Given the description of an element on the screen output the (x, y) to click on. 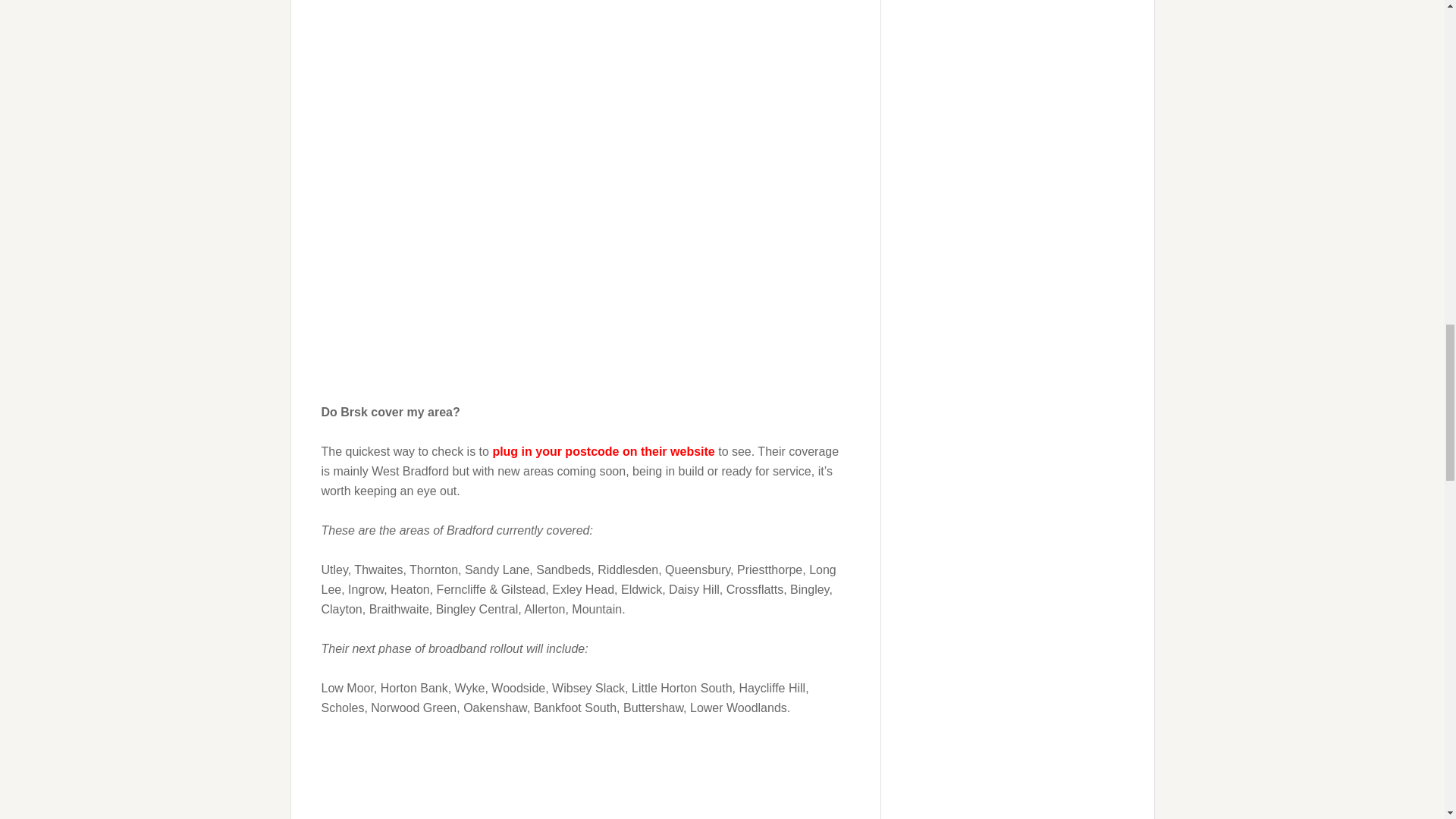
plug in your postcode on their website (603, 451)
